Given the description of an element on the screen output the (x, y) to click on. 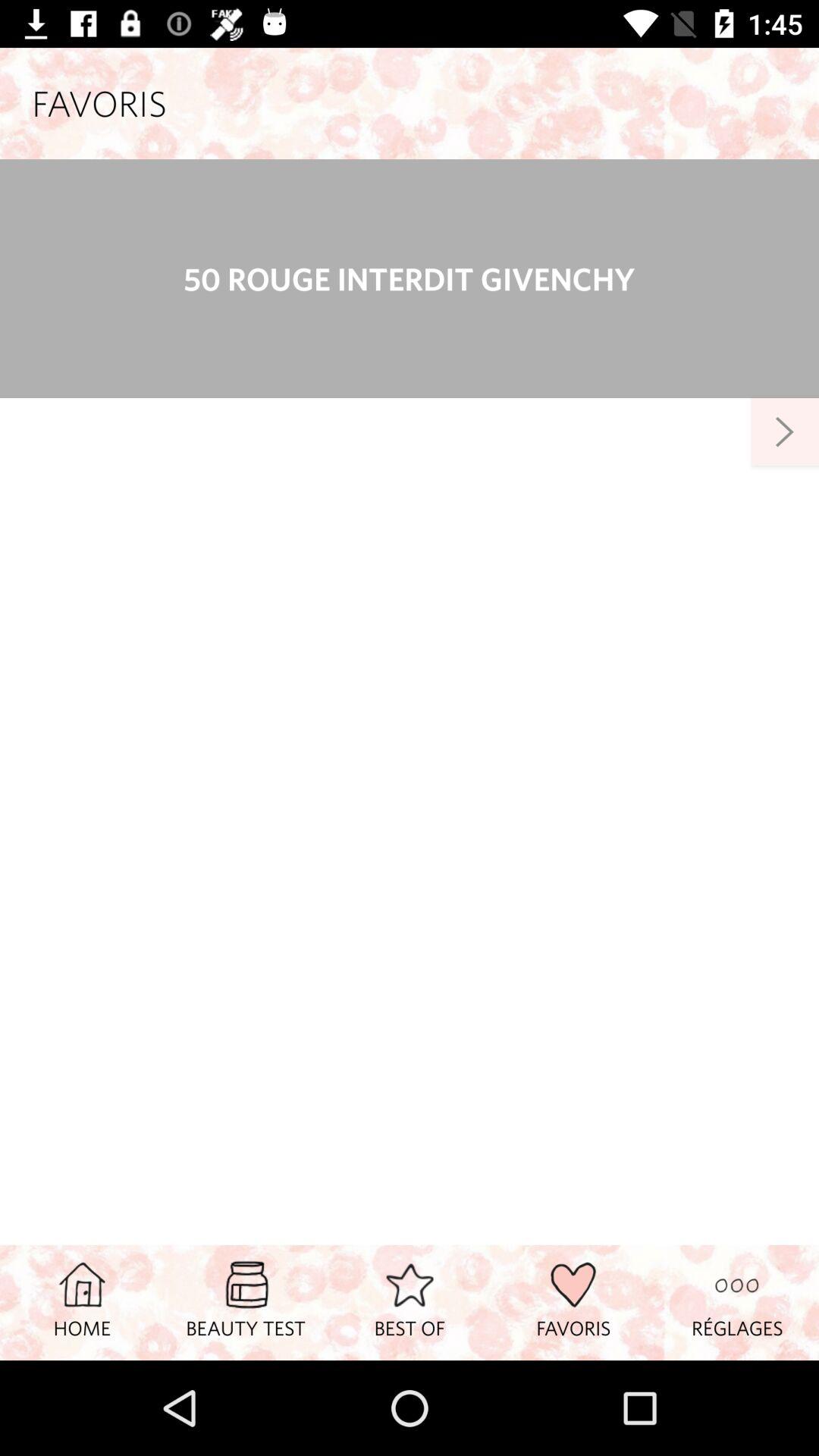
swipe to home (81, 1302)
